Given the description of an element on the screen output the (x, y) to click on. 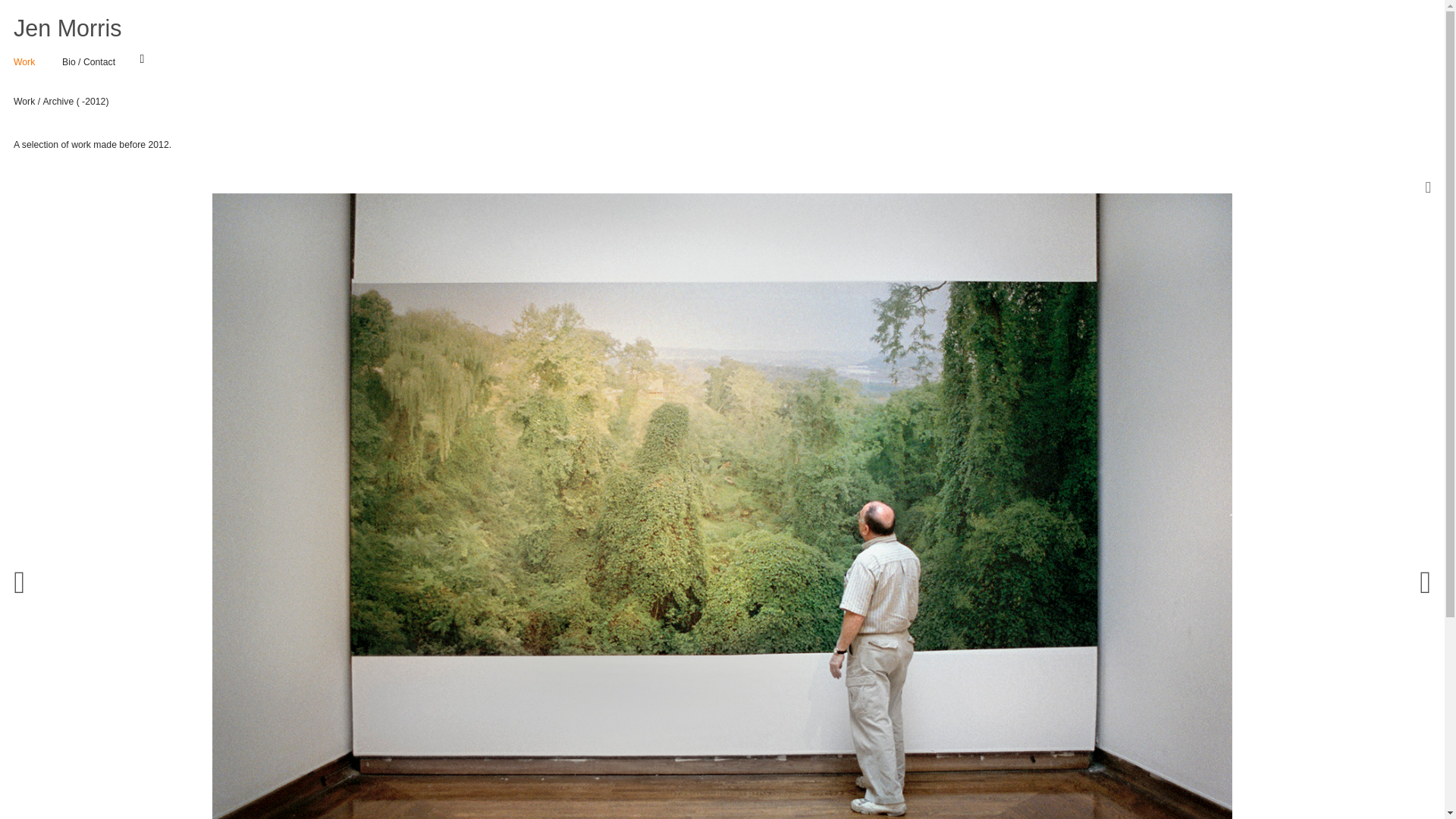
Jen Morris (67, 28)
Work (23, 101)
Work (23, 61)
